Given the description of an element on the screen output the (x, y) to click on. 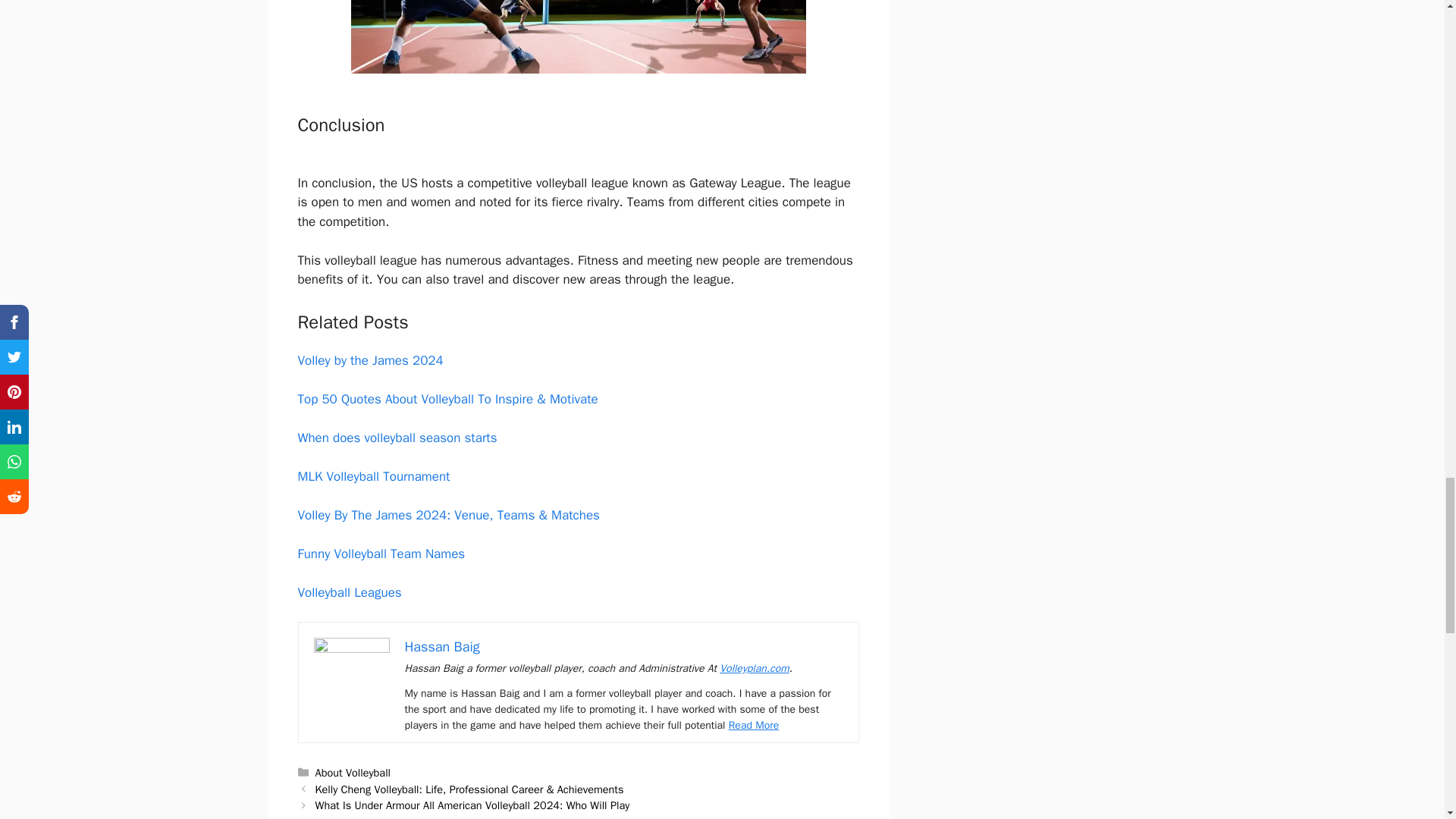
Volleyball Leagues (349, 592)
When does volleyball season starts (396, 437)
Volleyplan.com (754, 667)
Read More (753, 725)
Hassan Baig (442, 646)
Volley by the James 2024 (369, 360)
Funny Volleyball Team Names (380, 553)
About Volleyball (352, 772)
MLK Volleyball Tournament (373, 476)
